Given the description of an element on the screen output the (x, y) to click on. 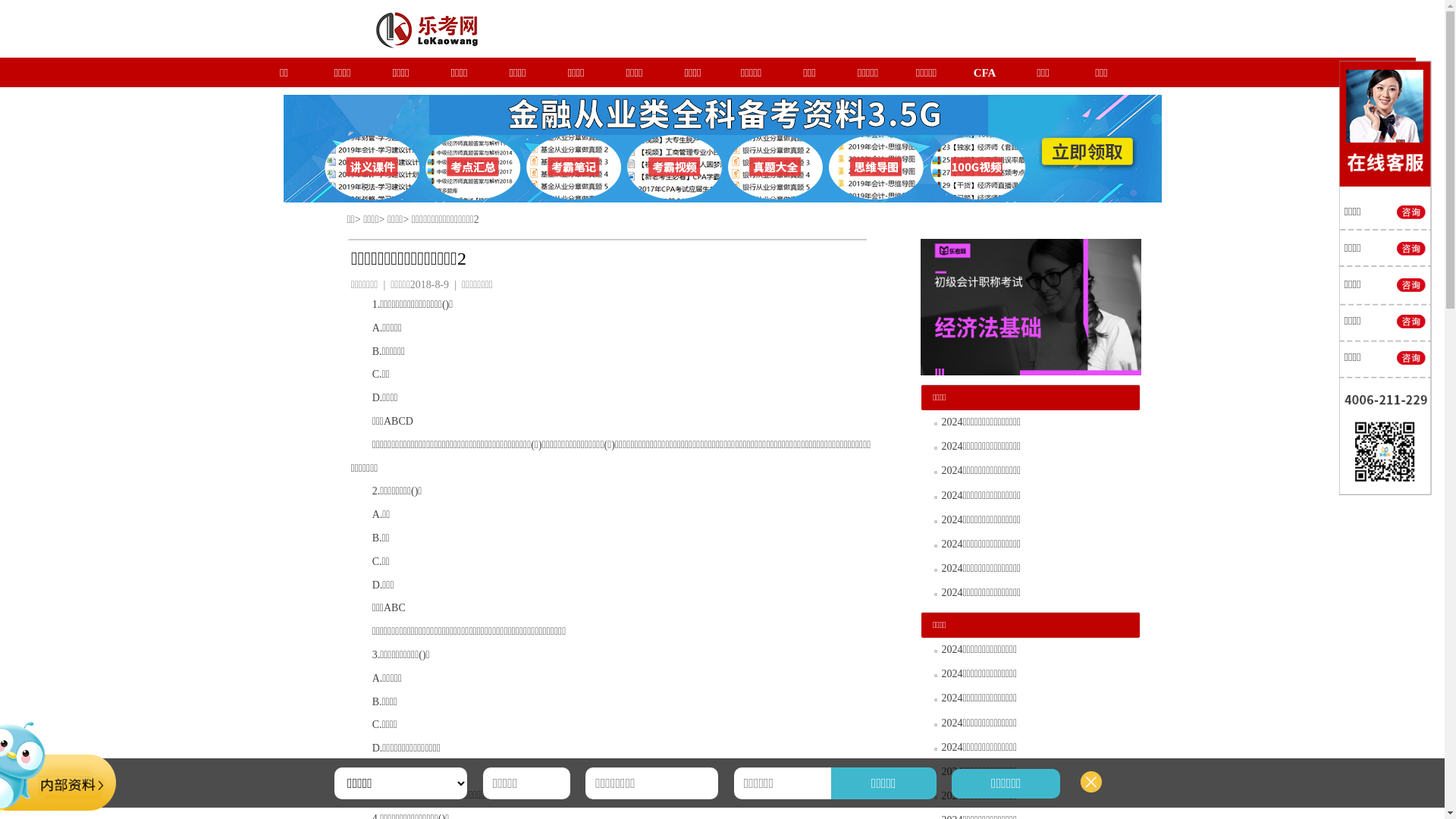
CFA Element type: text (984, 73)
